Given the description of an element on the screen output the (x, y) to click on. 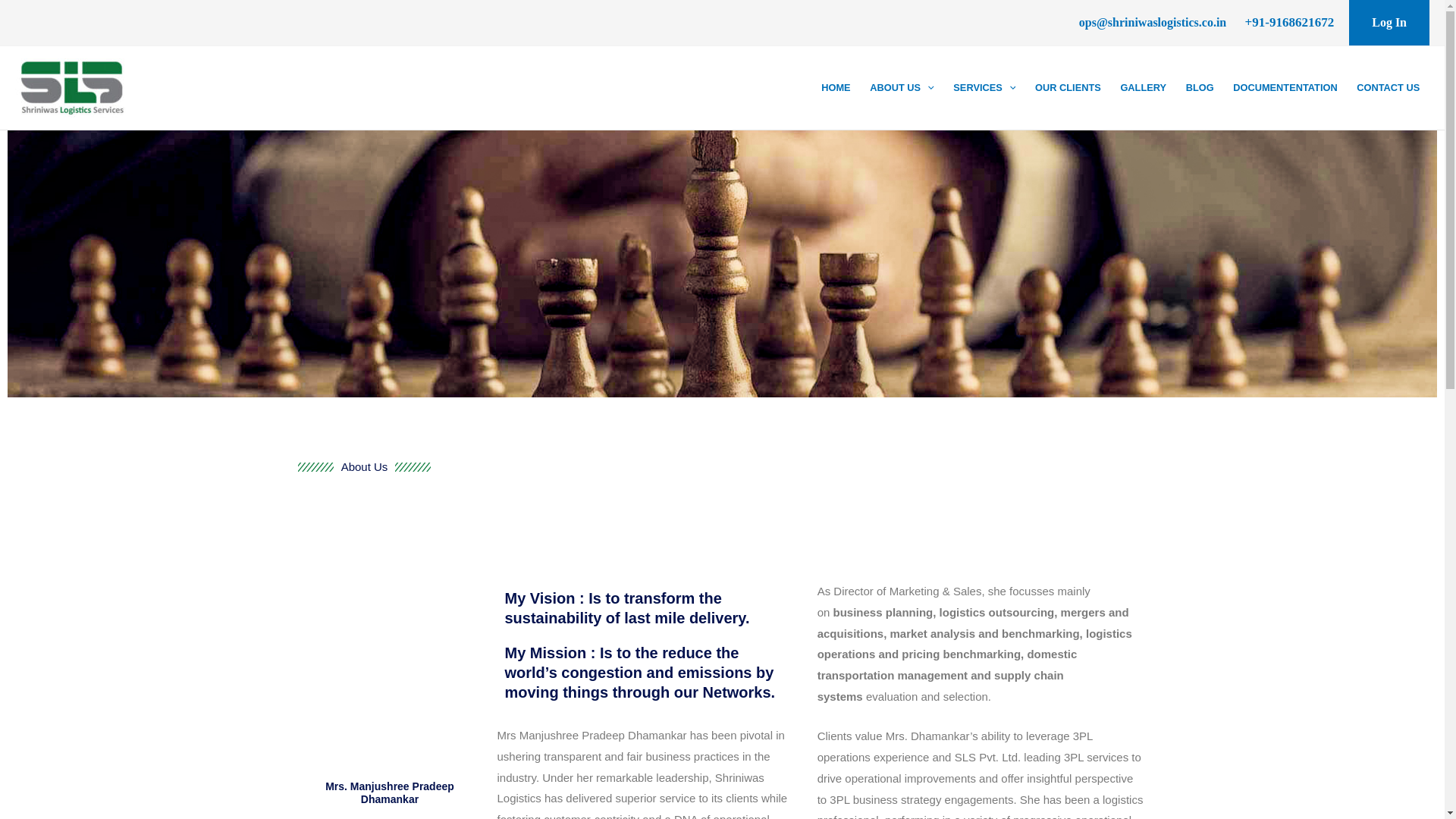
OUR CLIENTS (1067, 87)
ABOUT US (901, 87)
CONTACT US (1387, 87)
Log In (1389, 22)
SERVICES (984, 87)
DOCUMENTENTATION (1284, 87)
GALLERY (1143, 87)
